Given the description of an element on the screen output the (x, y) to click on. 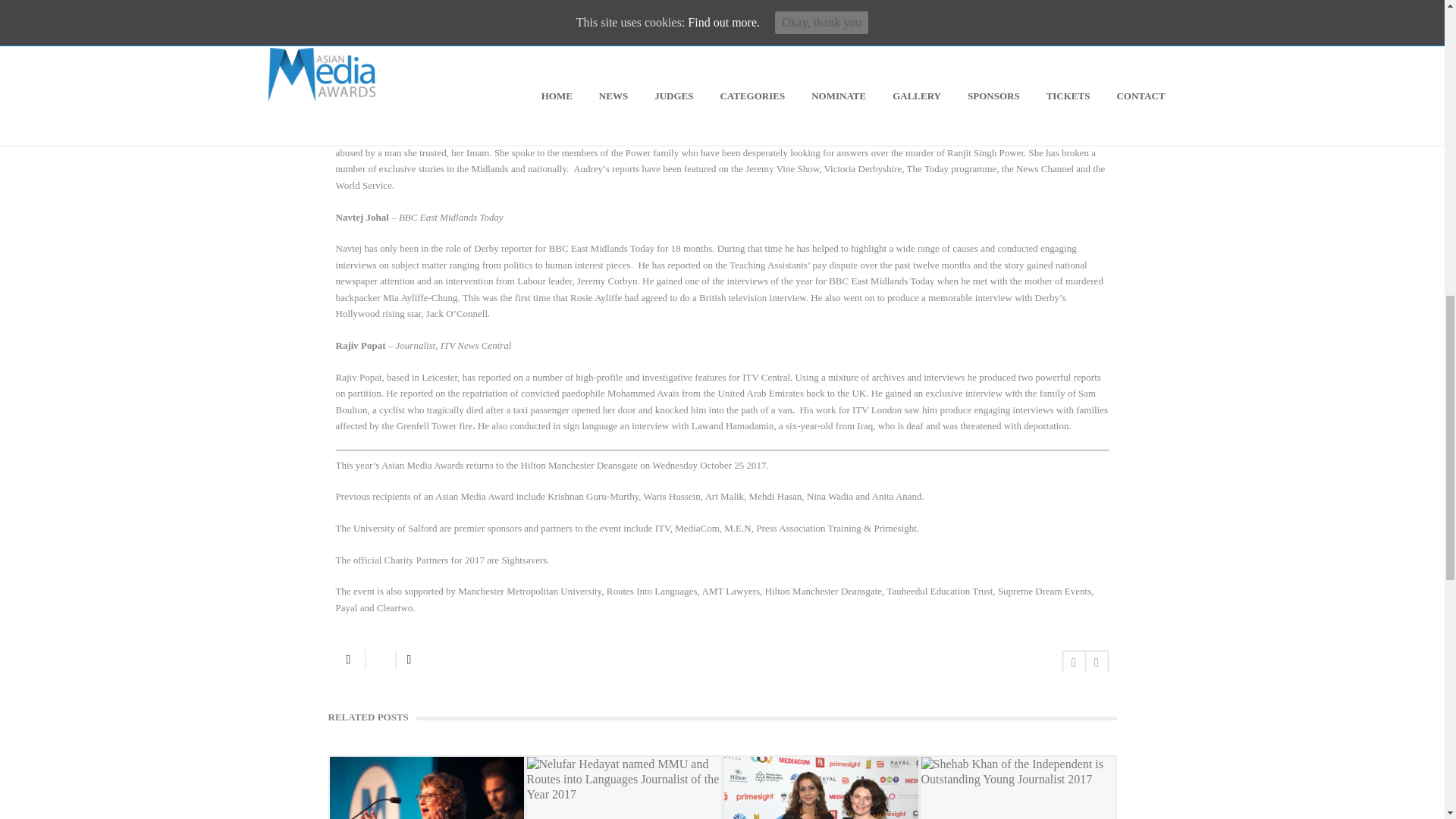
The Traffickers wins Best Investigation Award 2017 (820, 787)
